Given the description of an element on the screen output the (x, y) to click on. 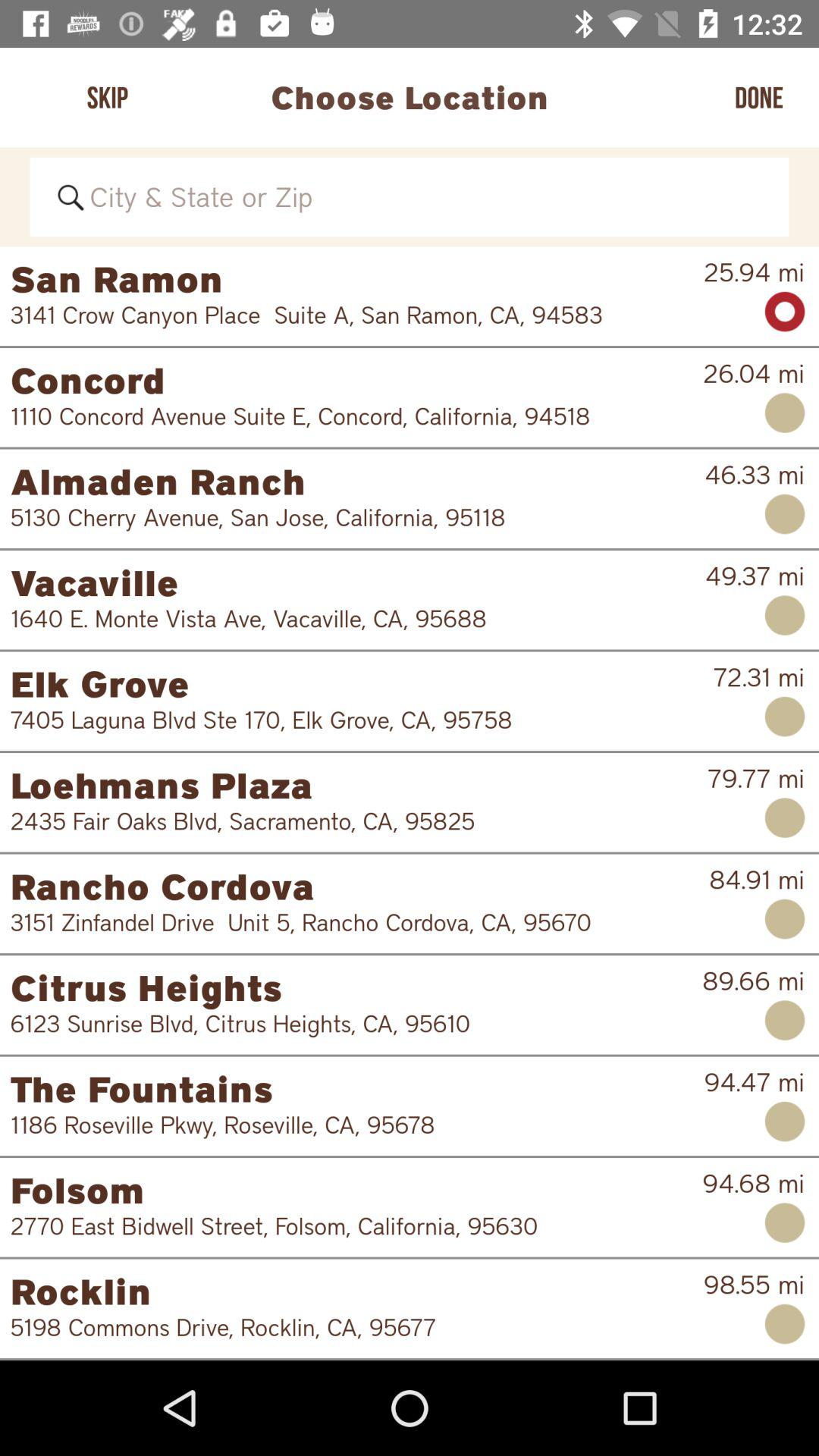
search bar for city states or zip (409, 196)
